Given the description of an element on the screen output the (x, y) to click on. 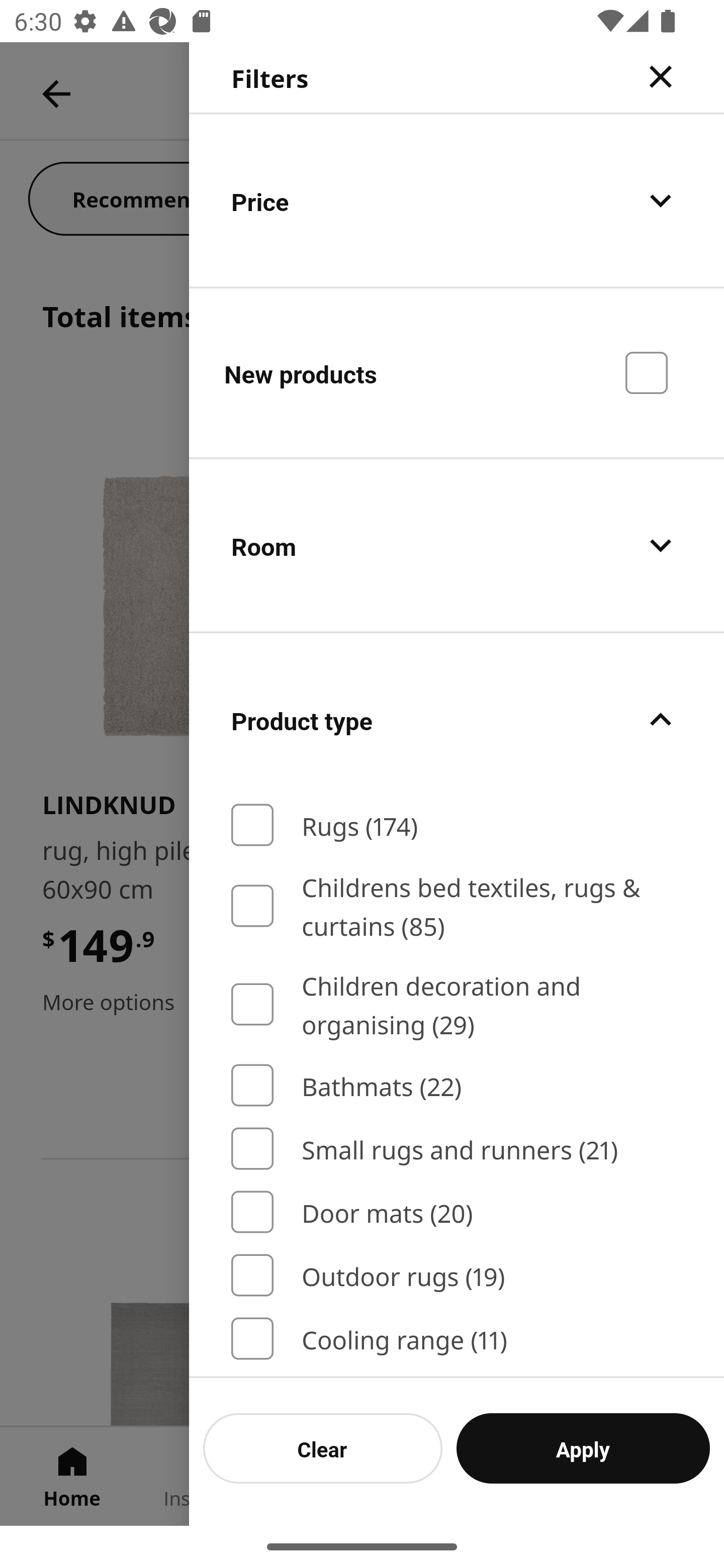
Price (456, 200)
New products (456, 371)
Room (456, 545)
Product type (456, 719)
Rugs (174) (456, 825)
Childrens bed textiles, rugs & curtains (85) (456, 906)
Children decoration and organising (29) (456, 1003)
Bathmats (22) (456, 1085)
Small rugs and runners (21) (456, 1148)
Door mats (20) (456, 1212)
Outdoor rugs (19) (456, 1275)
Cooling range (11) (456, 1338)
Clear (322, 1447)
Apply (583, 1447)
